Given the description of an element on the screen output the (x, y) to click on. 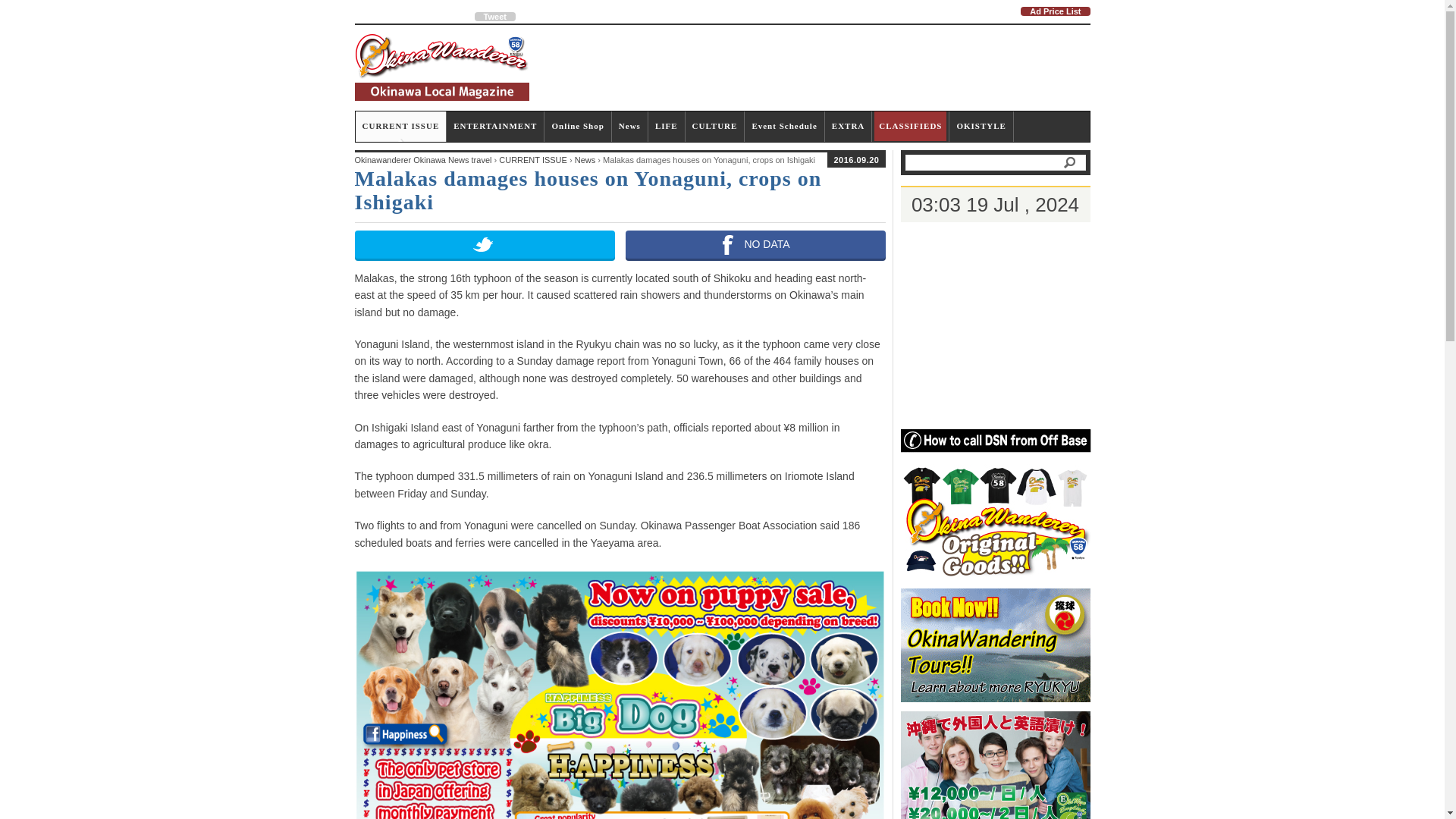
News (629, 125)
Tweet (494, 16)
LIFE (666, 125)
CULTURE (714, 125)
Ad Price List (1054, 10)
Online Shop (577, 125)
ENTERTAINMENT (494, 125)
Advertisement (814, 66)
LIFE (666, 125)
CURRENT ISSUE (401, 125)
